Given the description of an element on the screen output the (x, y) to click on. 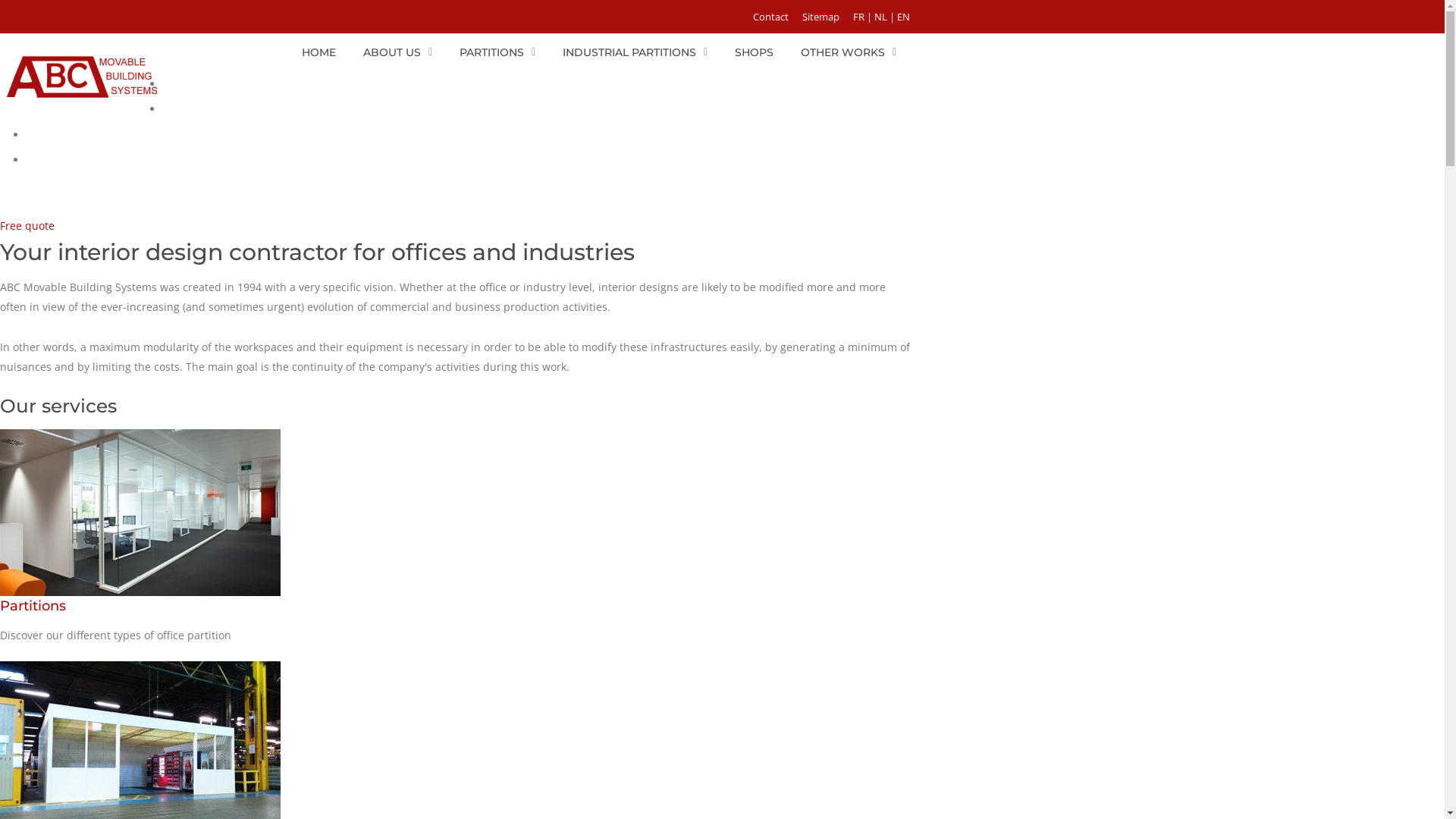
SHOPS Element type: text (753, 52)
Sitemap Element type: text (820, 16)
Contact Element type: text (770, 16)
ABOUT US Element type: text (397, 52)
ABC MBS Element type: hover (81, 76)
Partitions Element type: text (32, 605)
FR Element type: text (858, 16)
OTHER WORKS Element type: text (848, 52)
INDUSTRIAL PARTITIONS Element type: text (634, 52)
Free quote Element type: text (27, 225)
NL Element type: text (880, 16)
EN Element type: text (903, 16)
PARTITIONS Element type: text (497, 52)
HOME Element type: text (318, 52)
